Given the description of an element on the screen output the (x, y) to click on. 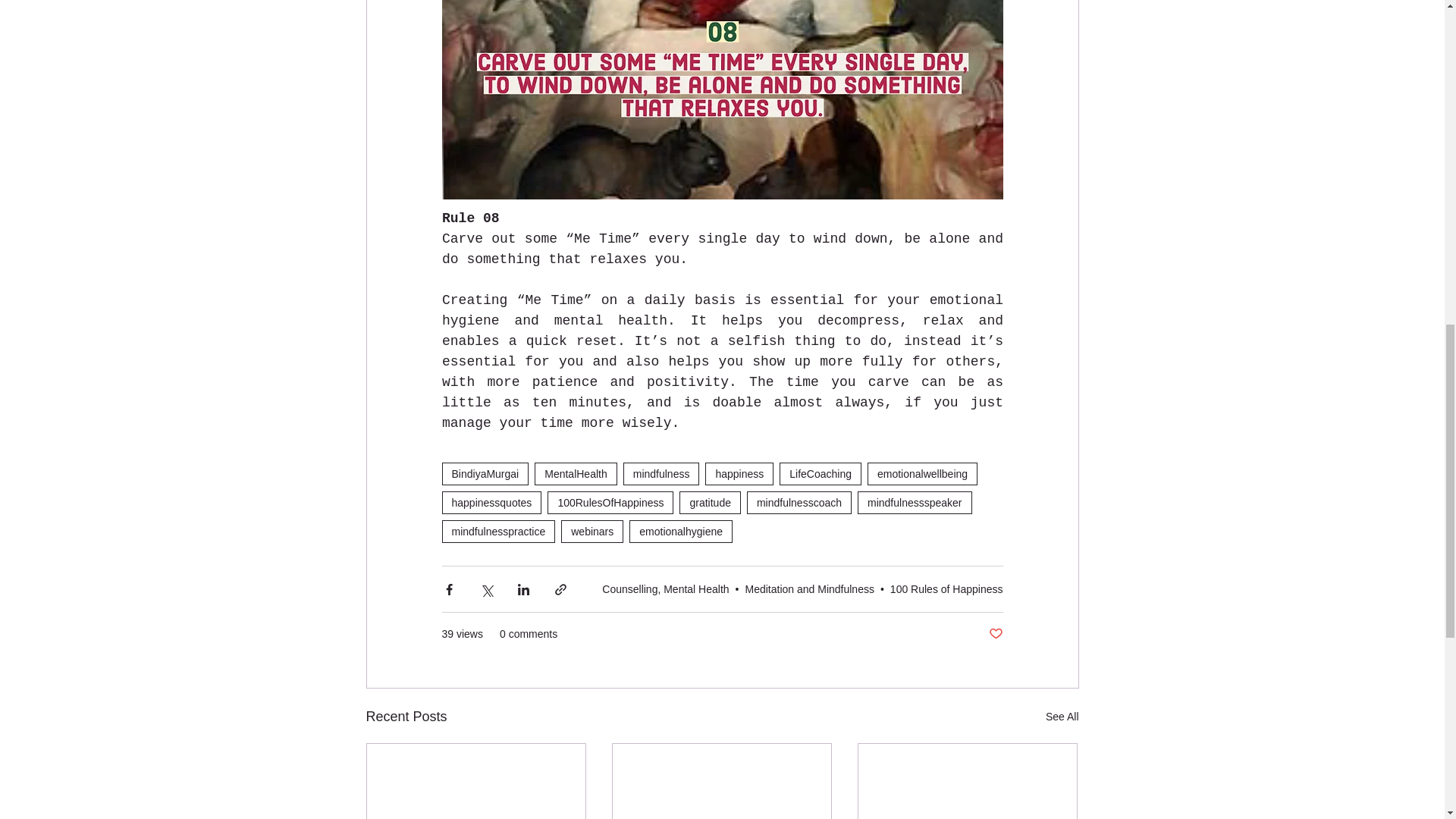
LifeCoaching (819, 473)
100RulesOfHappiness (609, 502)
happiness (738, 473)
mindfulnesspractice (497, 531)
mindfulness (661, 473)
gratitude (709, 502)
emotionalhygiene (680, 531)
webinars (591, 531)
emotionalwellbeing (921, 473)
mindfulnesscoach (798, 502)
happinessquotes (491, 502)
mindfulnessspeaker (914, 502)
MentalHealth (575, 473)
BindiyaMurgai (484, 473)
